Given the description of an element on the screen output the (x, y) to click on. 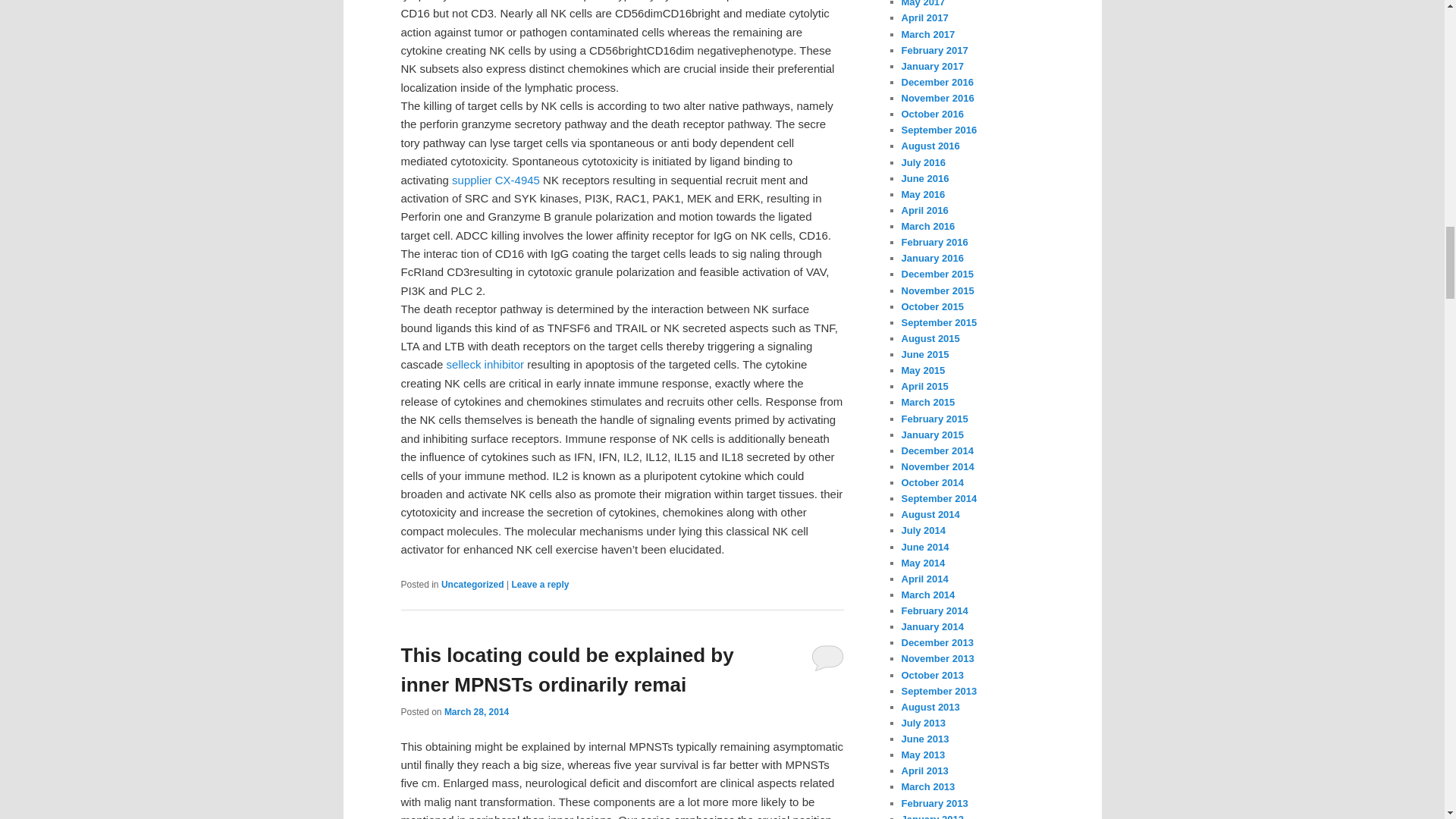
Leave a reply (540, 584)
Uncategorized (472, 584)
selleck inhibitor (485, 364)
supplier CX-4945 (495, 178)
March 28, 2014 (476, 711)
